Given the description of an element on the screen output the (x, y) to click on. 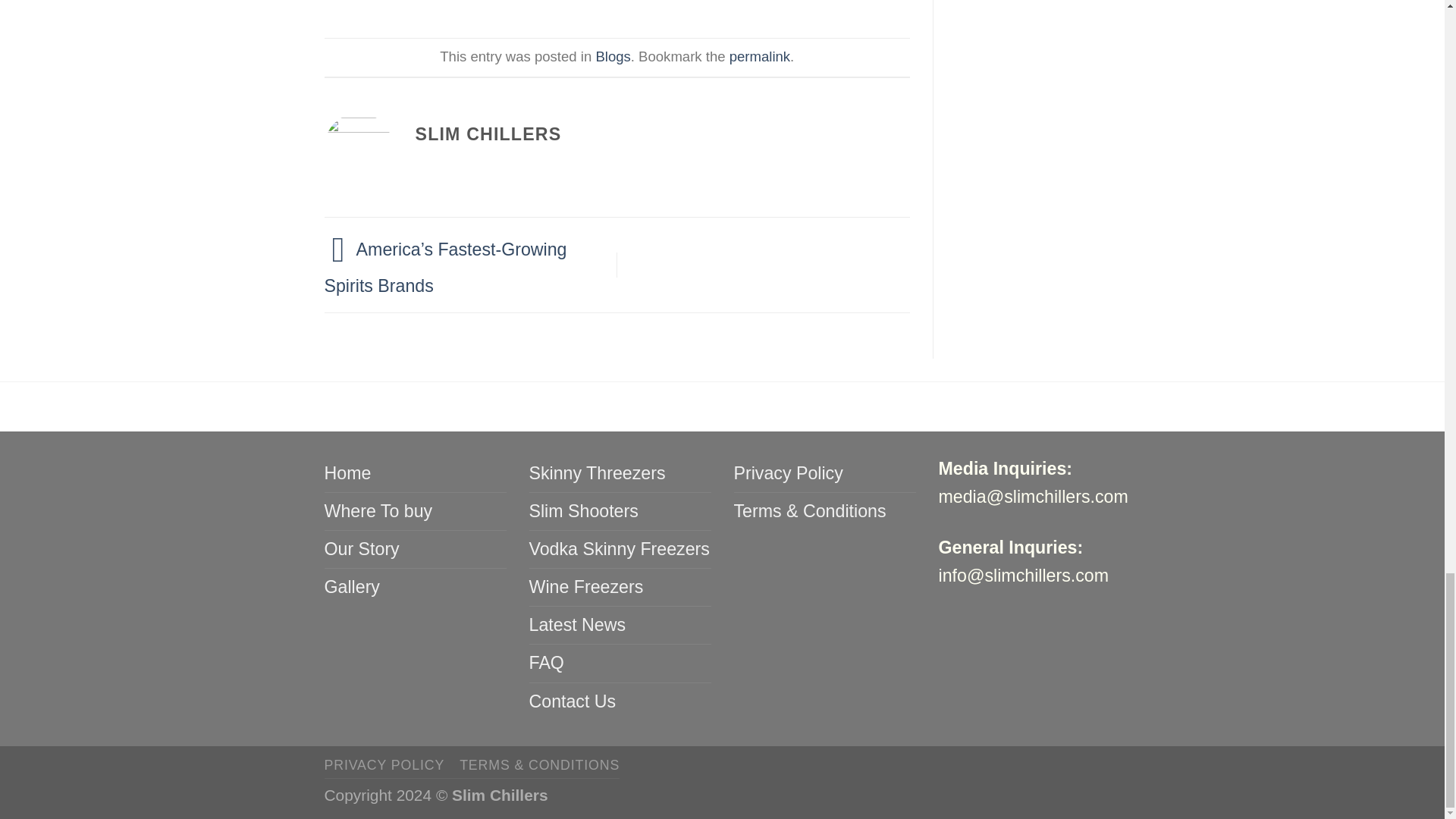
Blogs (612, 56)
permalink (759, 56)
